Given the description of an element on the screen output the (x, y) to click on. 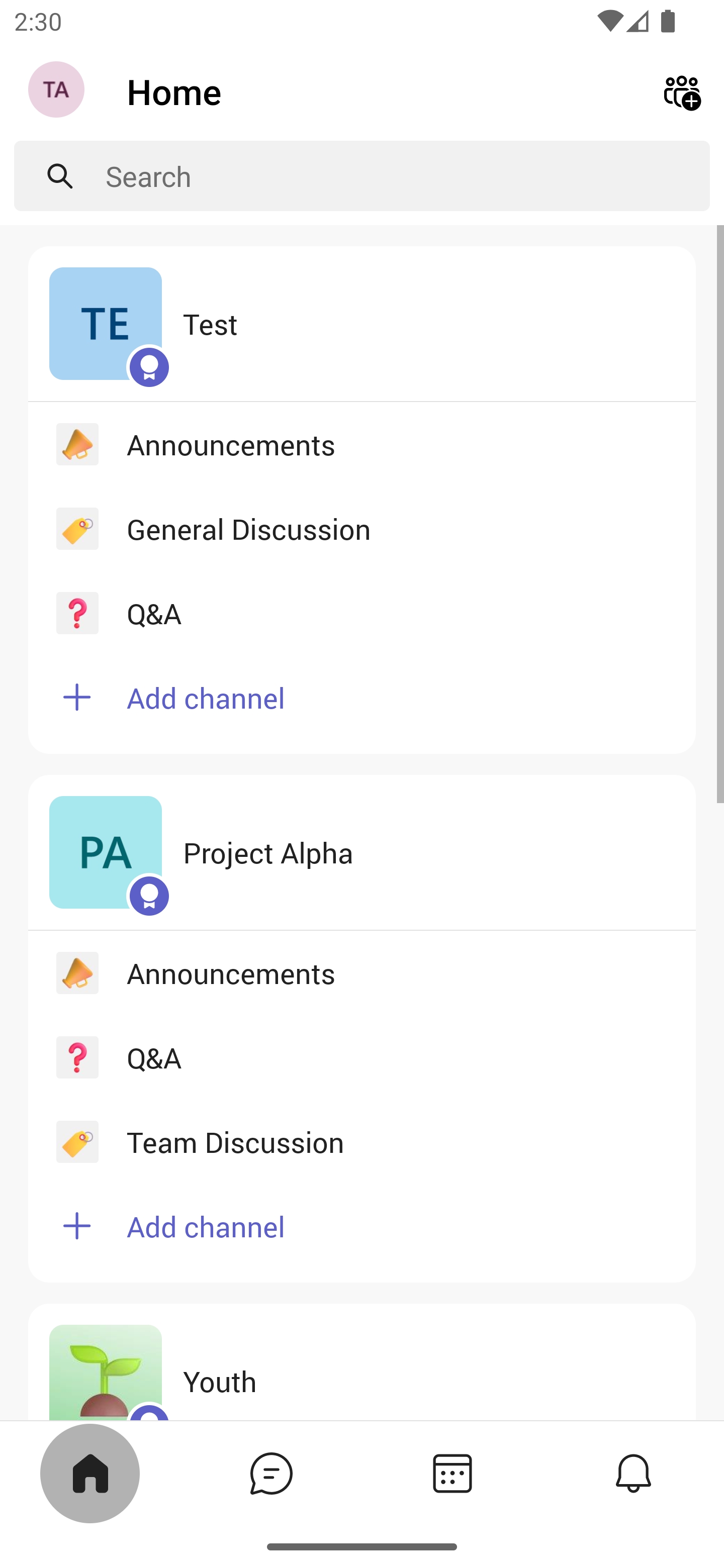
Create new community (681, 90)
Navigation (58, 91)
Search (407, 176)
Test Community. Test (361, 323)
Announcements Channel. Announcements (361, 443)
General Discussion Channel. General Discussion (361, 528)
Q&A Channel. Q&A (361, 612)
Add a new channel to Test community Add channel (361, 704)
Project Alpha Community. Project Alpha (361, 852)
Announcements Channel. Announcements (361, 972)
Q&A Channel. Q&A (361, 1056)
Team Discussion Channel. Team Discussion (361, 1141)
Youth Community. Youth (361, 1361)
Home tab, 1 of 4 (90, 1472)
Chat tab,2 of 4, not selected (271, 1472)
Calendar tab,3 of 4, not selected (452, 1472)
Activity tab,4 of 4, not selected (633, 1472)
